Given the description of an element on the screen output the (x, y) to click on. 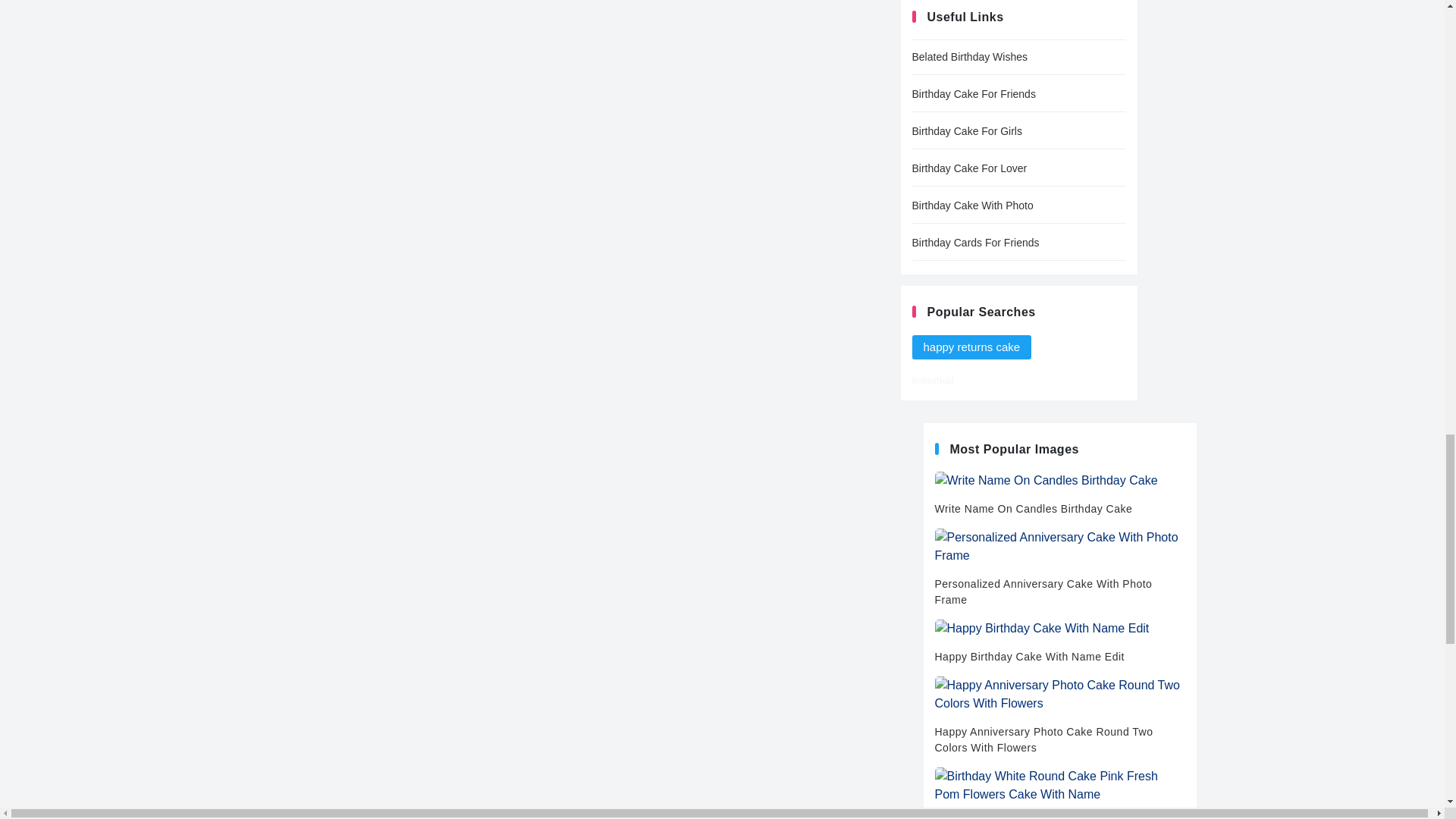
Birthday Cake For Girls (1018, 131)
Personalized Anniversary Cake With Photo Frame (1059, 568)
Happy Anniversary Photo Cake Round Two Colors With Flowers (1059, 715)
Belated Birthday Wishes (1018, 57)
happy returns cake (970, 347)
Birthday Cake For Lover (1018, 168)
Birthday Cake For Friends (1018, 93)
Birthday Cake With Photo (1018, 205)
Happy Birthday Cake With Name Edit (1059, 642)
